Given the description of an element on the screen output the (x, y) to click on. 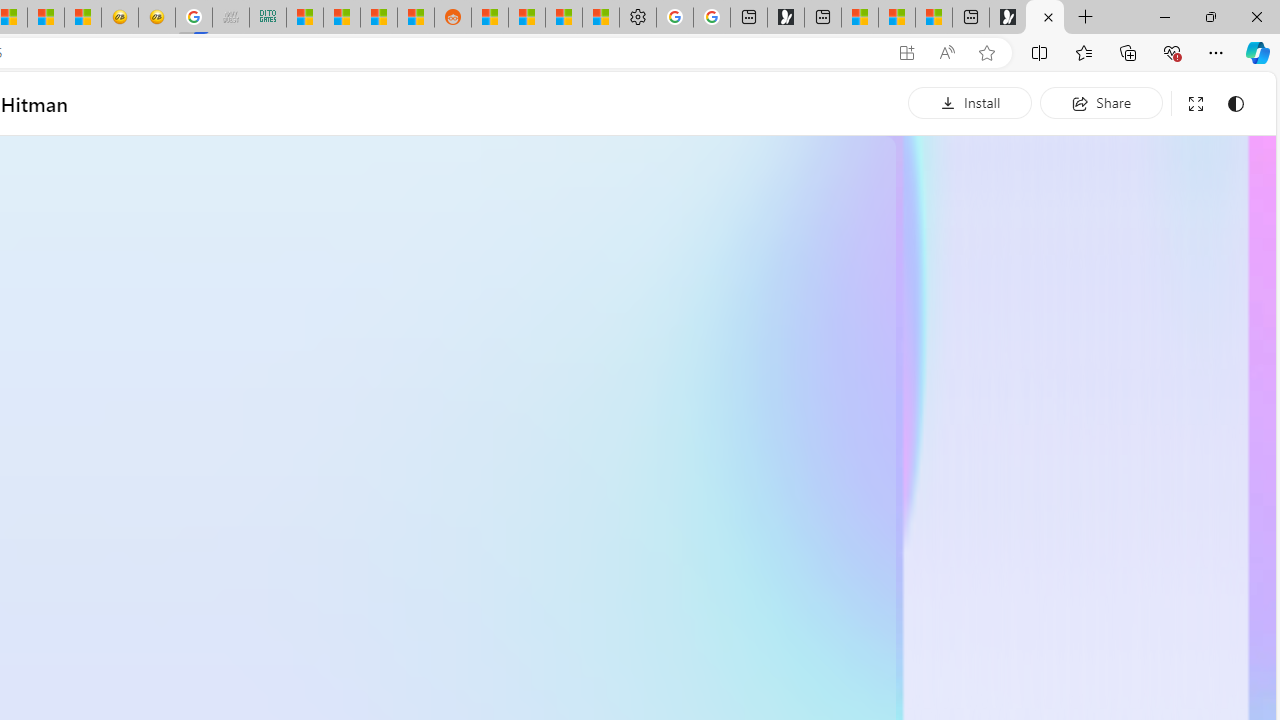
Settings (637, 17)
Microsoft Start (897, 17)
Install (970, 102)
Stocks - MSN (378, 17)
Change to dark mode (1235, 103)
DITOGAMES AG Imprint (267, 17)
MSNBC - MSN (304, 17)
